Given the description of an element on the screen output the (x, y) to click on. 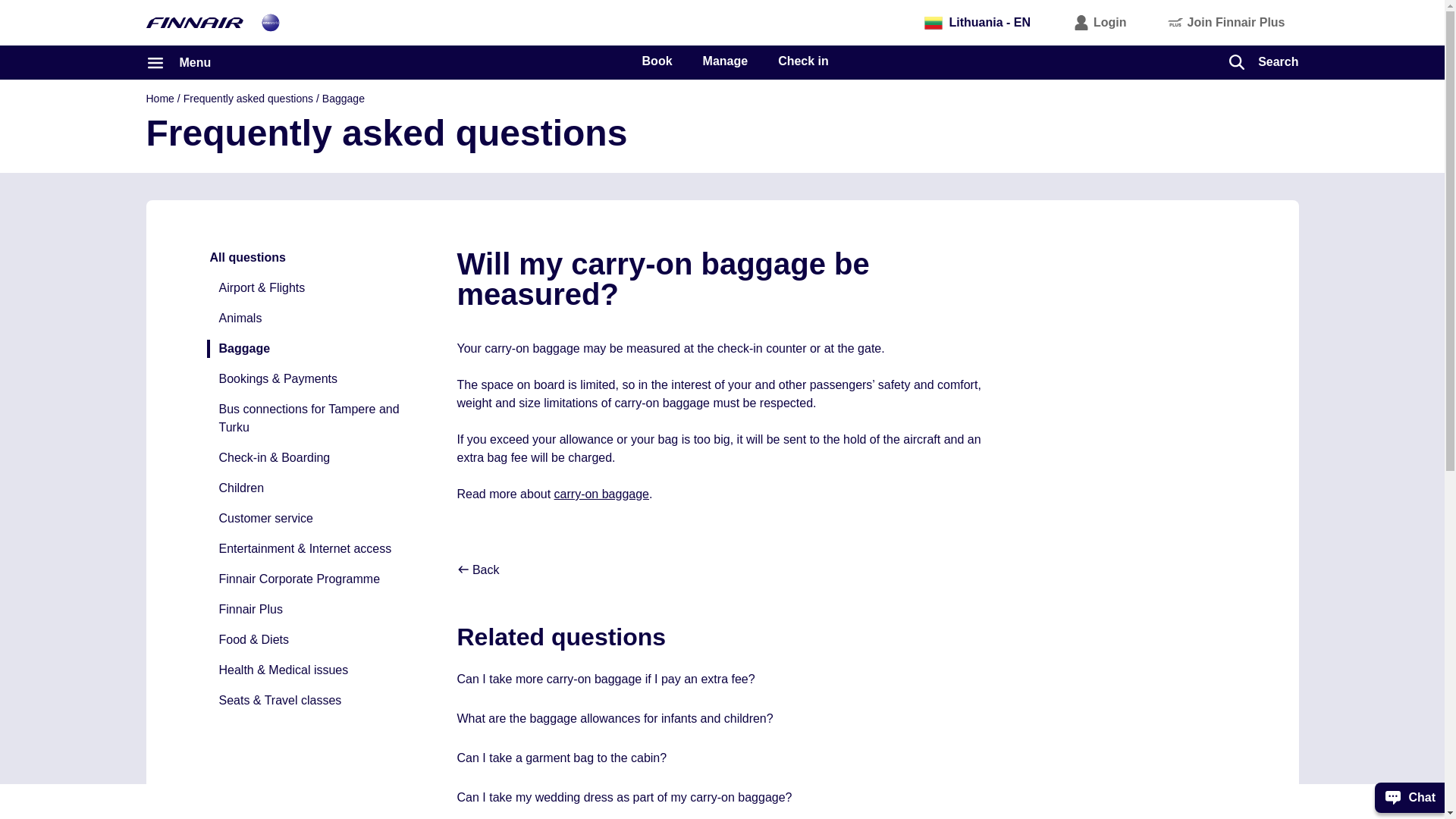
Menu (178, 62)
Login (1100, 22)
Check in (802, 61)
Book (657, 61)
Join Finnair Plus (1227, 22)
Manage (725, 61)
Search (1262, 61)
Lithuania - EN (977, 22)
